Given the description of an element on the screen output the (x, y) to click on. 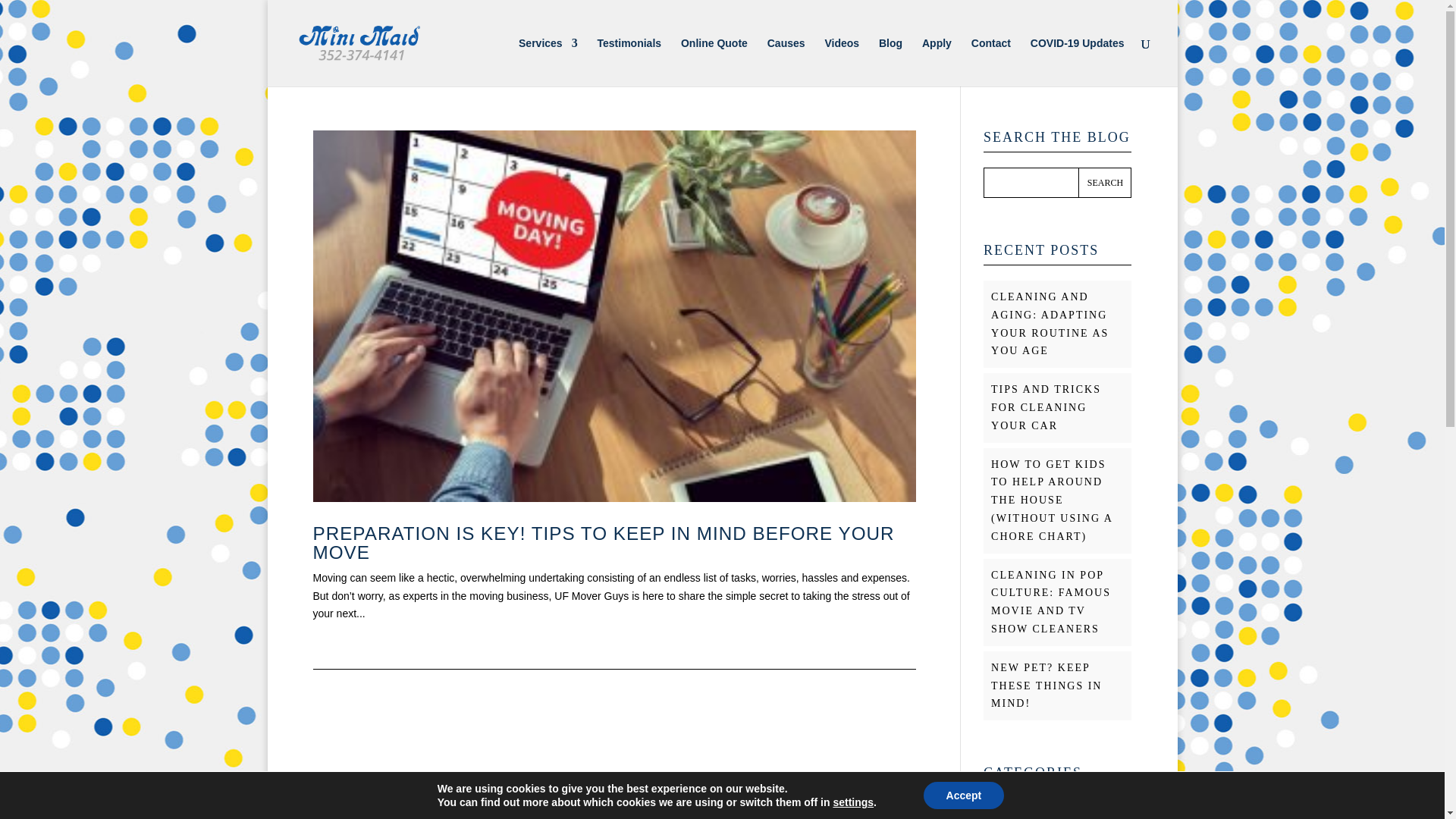
Contact (990, 61)
Search (1104, 182)
TIPS AND TRICKS FOR CLEANING YOUR CAR (1045, 407)
Online Quote (714, 61)
CLEANING TIPS (1040, 816)
PREPARATION IS KEY! TIPS TO KEEP IN MIND BEFORE YOUR MOVE (603, 542)
Blog (890, 61)
Testimonials (629, 61)
CLEANING AND AGING: ADAPTING YOUR ROUTINE AS YOU AGE (1049, 323)
Apply (936, 61)
Search (1104, 182)
NEW PET? KEEP THESE THINGS IN MIND! (1046, 685)
CLEANING IN POP CULTURE: FAMOUS MOVIE AND TV SHOW CLEANERS (1050, 601)
Causes (786, 61)
Videos (841, 61)
